Given the description of an element on the screen output the (x, y) to click on. 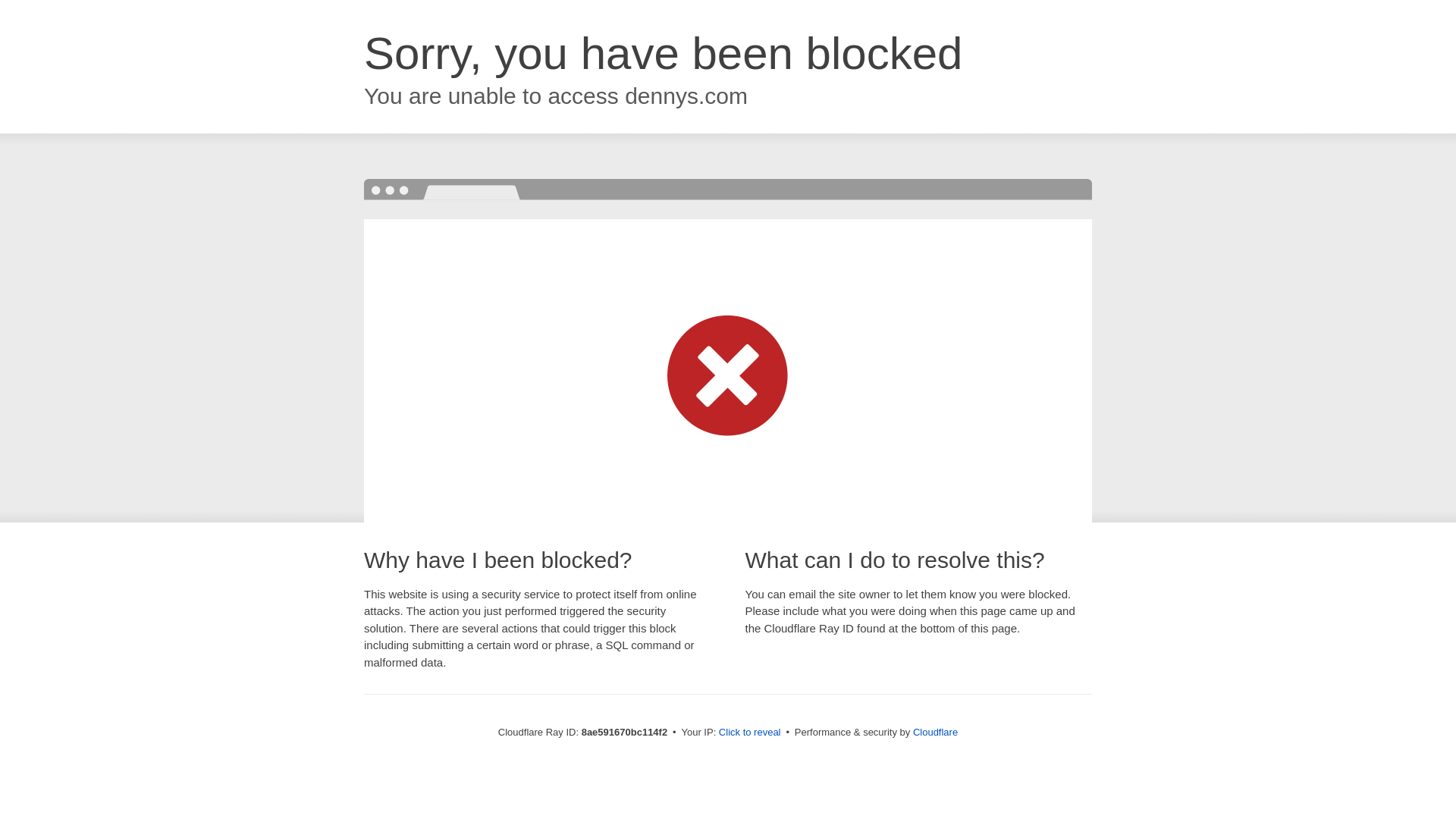
Cloudflare (935, 731)
Click to reveal (749, 732)
